Given the description of an element on the screen output the (x, y) to click on. 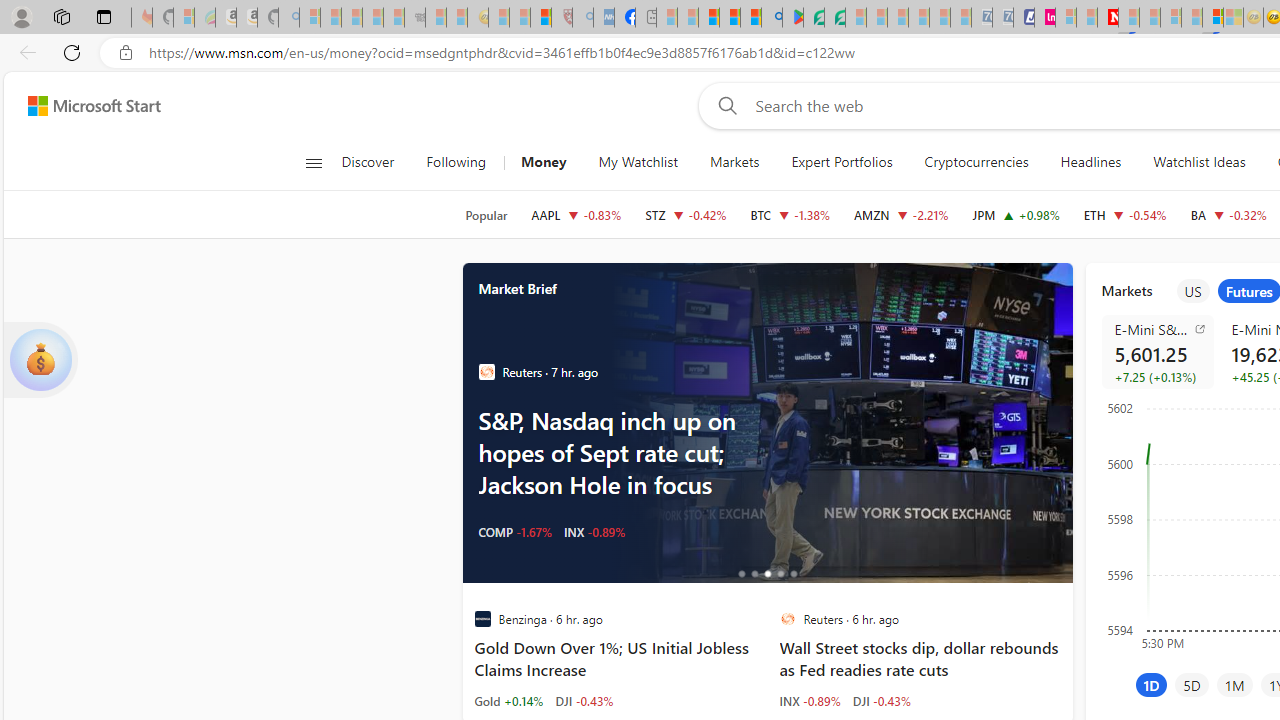
Headlines (1090, 162)
DJI -0.43% (881, 700)
My Watchlist (637, 162)
ETH Ethereum decrease 2,623.19 -14.14 -0.54% (1124, 214)
